Given the description of an element on the screen output the (x, y) to click on. 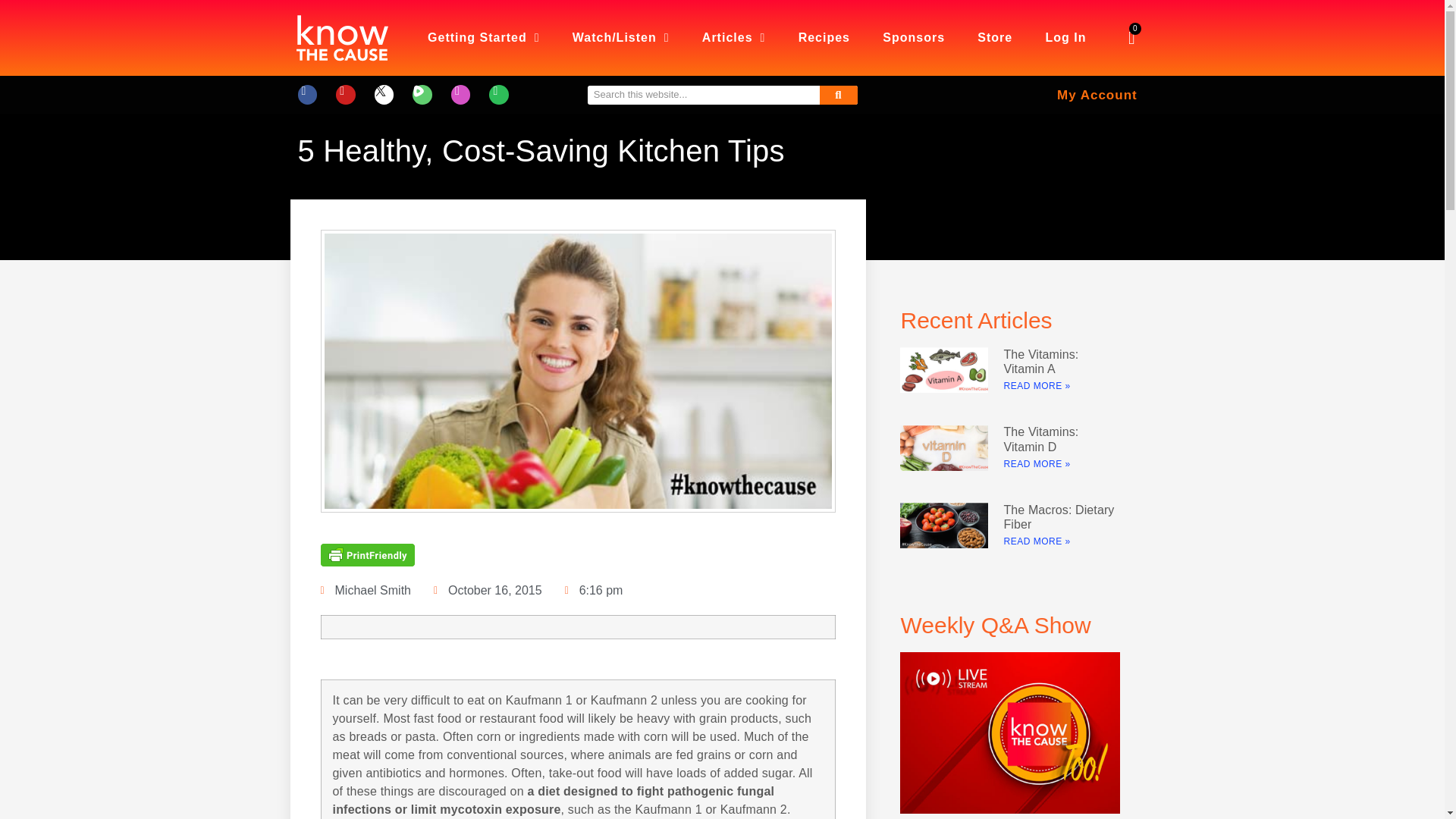
Sponsors (913, 37)
Store (994, 37)
Log In (1065, 37)
Click to view our Articles (733, 37)
Articles (733, 37)
Recipes (823, 37)
Click to Watch or Listen our latest videos and Podcasts (620, 37)
Click to view the Getting Started page (483, 37)
Getting Started (483, 37)
